Given the description of an element on the screen output the (x, y) to click on. 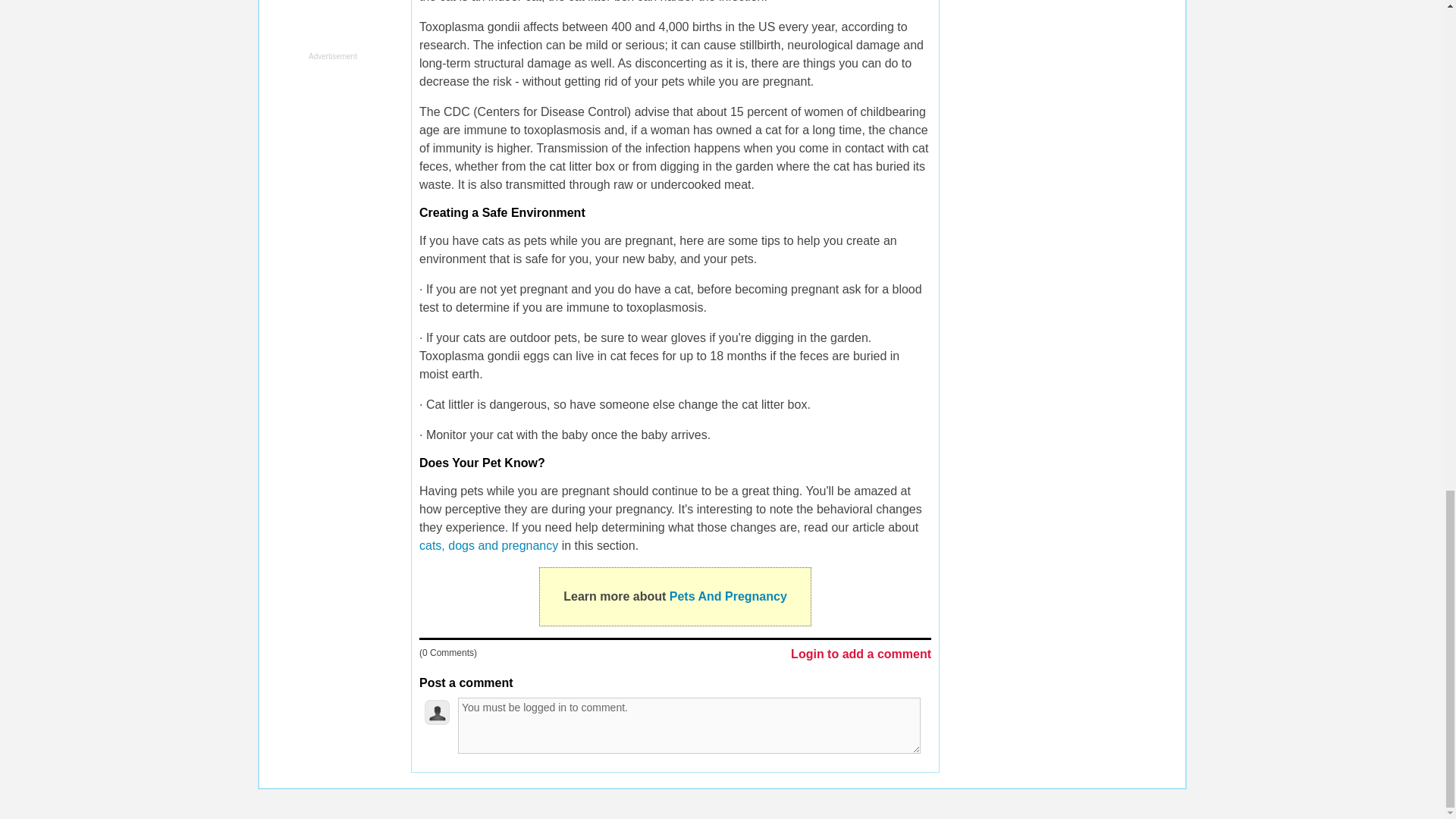
Pets And Pregnancy (728, 595)
pets and pregnancy (490, 545)
LOG IN (600, 802)
Login to add a comment (860, 655)
cats, dogs and pregnancy (490, 545)
